Given the description of an element on the screen output the (x, y) to click on. 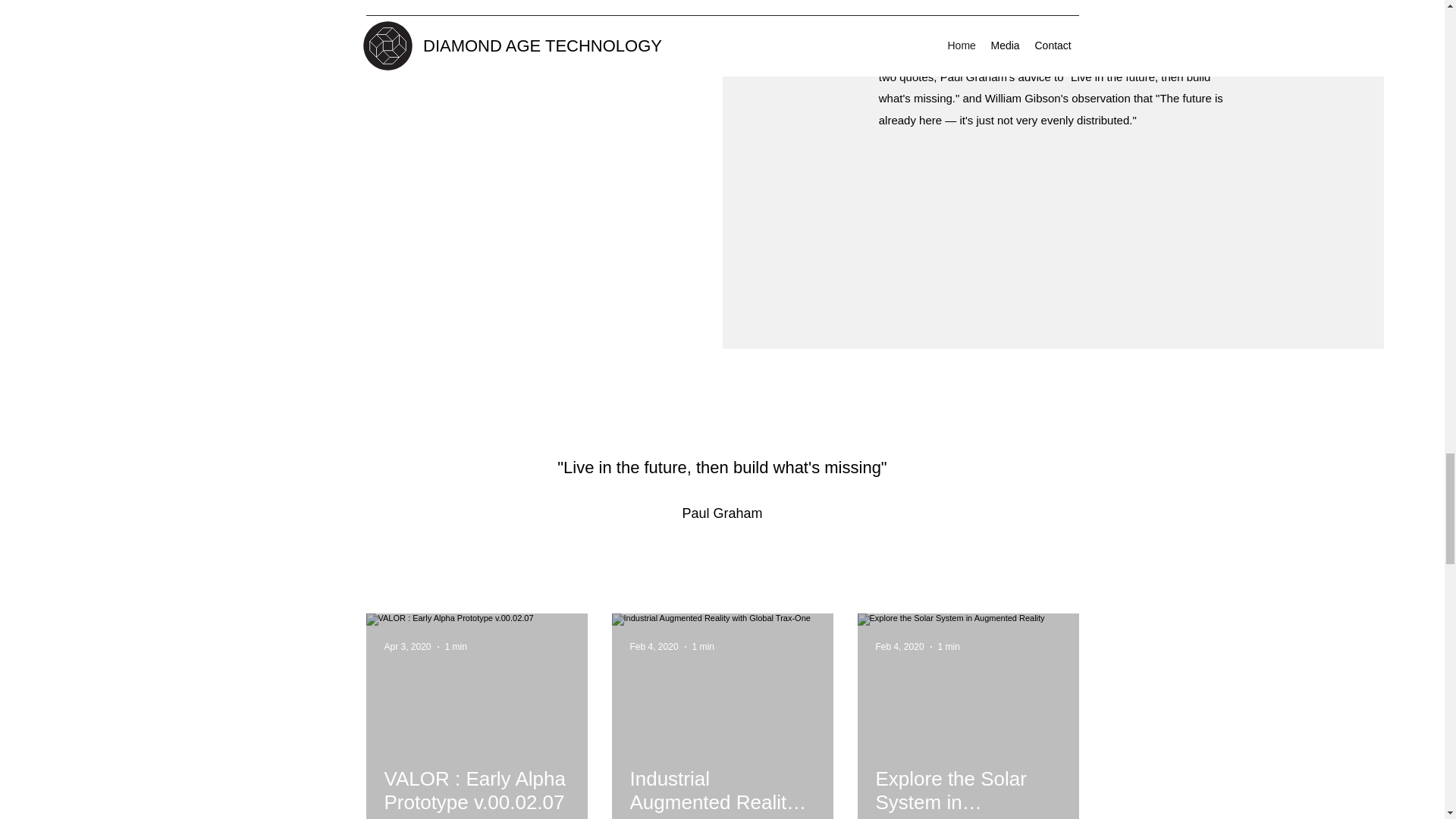
1 min (456, 646)
Industrial Augmented Reality with Global Trax-One (720, 790)
Feb 4, 2020 (899, 646)
Apr 3, 2020 (407, 646)
Feb 4, 2020 (653, 646)
1 min (948, 646)
1 min (703, 646)
VALOR : Early Alpha Prototype v.00.02.07 (476, 790)
Explore the Solar System in Augmented Reality (967, 790)
